Given the description of an element on the screen output the (x, y) to click on. 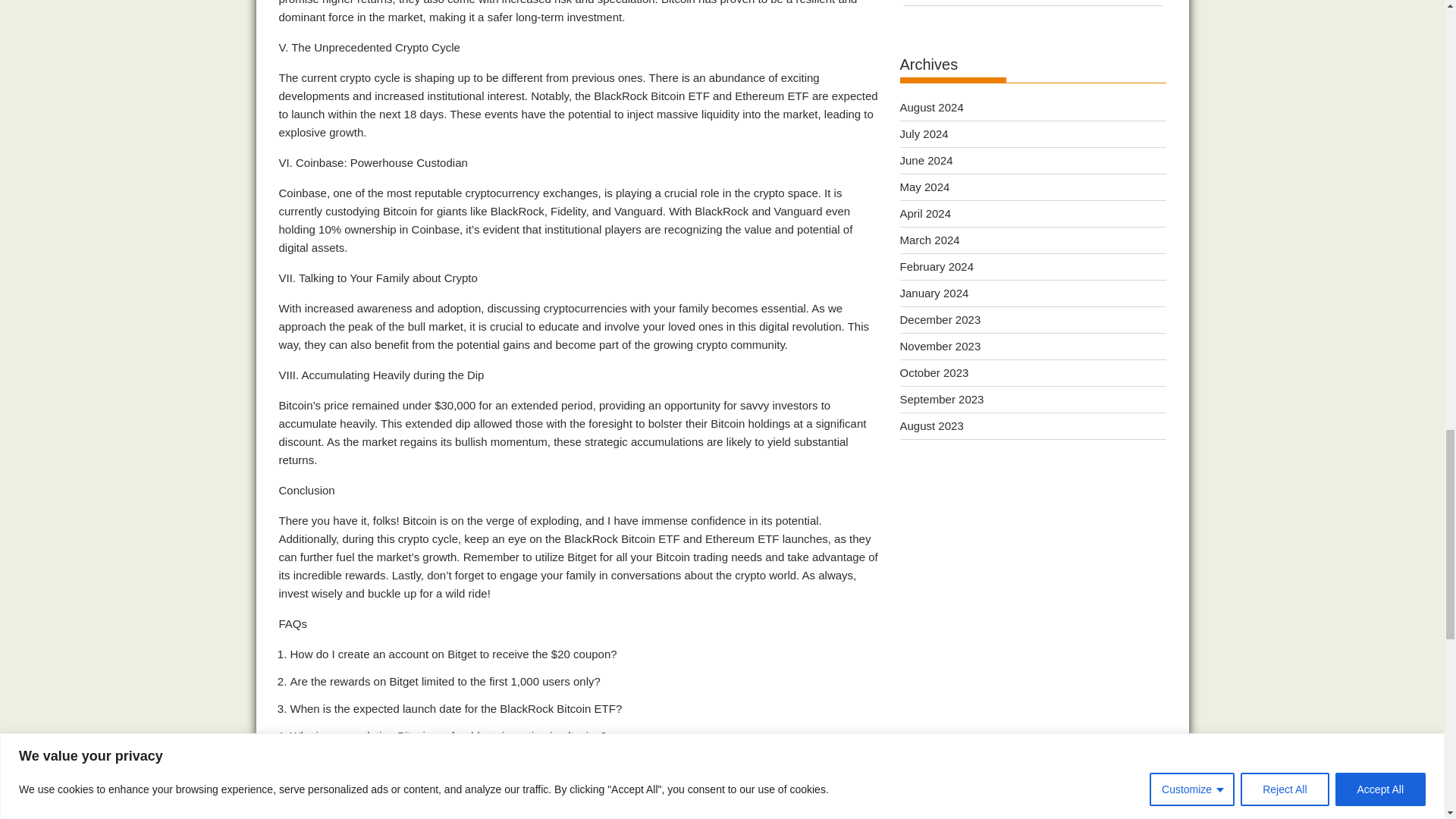
Crypto News (311, 817)
